Given the description of an element on the screen output the (x, y) to click on. 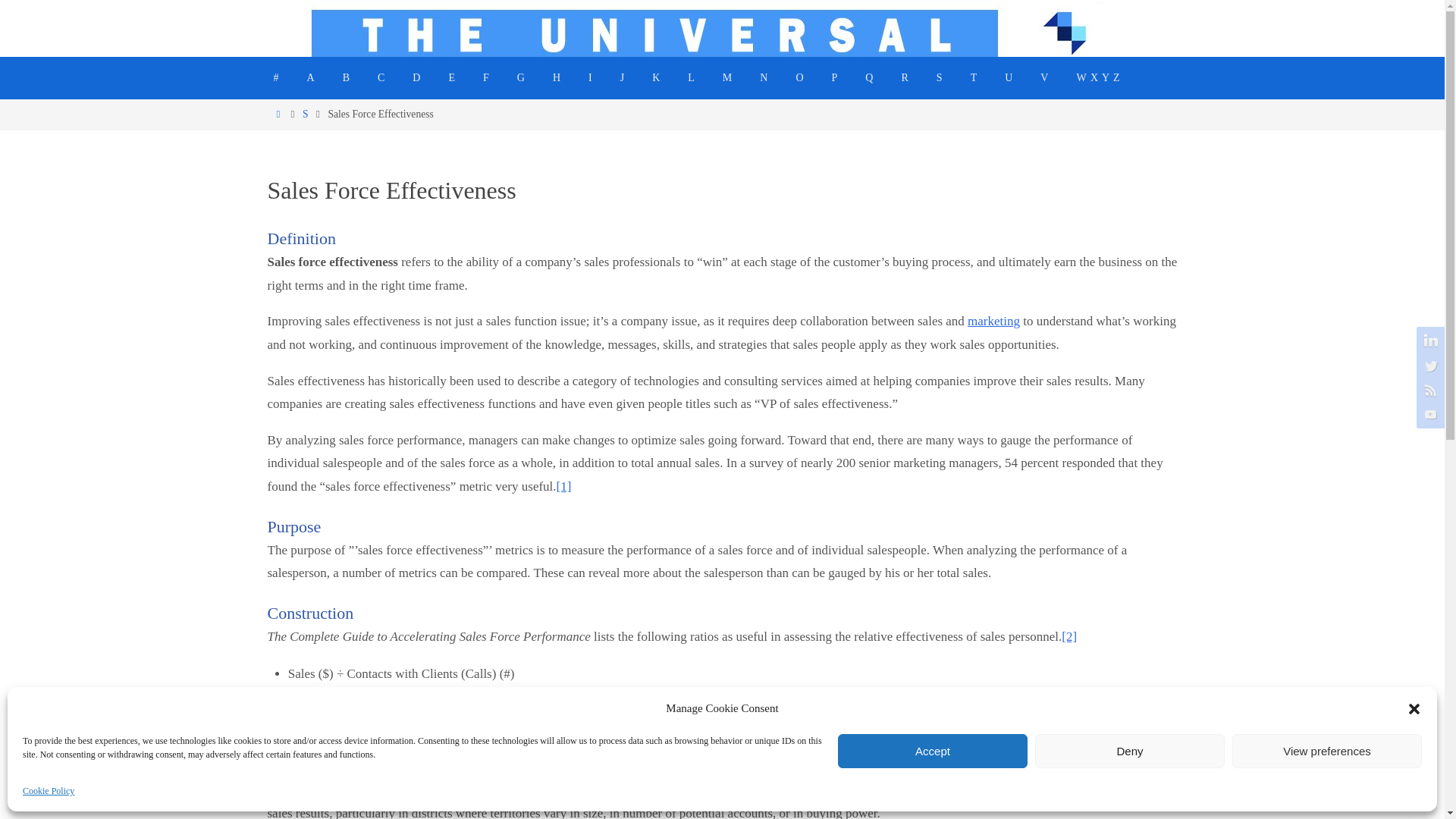
Accept (932, 750)
Cookie Policy (48, 791)
Deny (1129, 750)
View preferences (1326, 750)
